Given the description of an element on the screen output the (x, y) to click on. 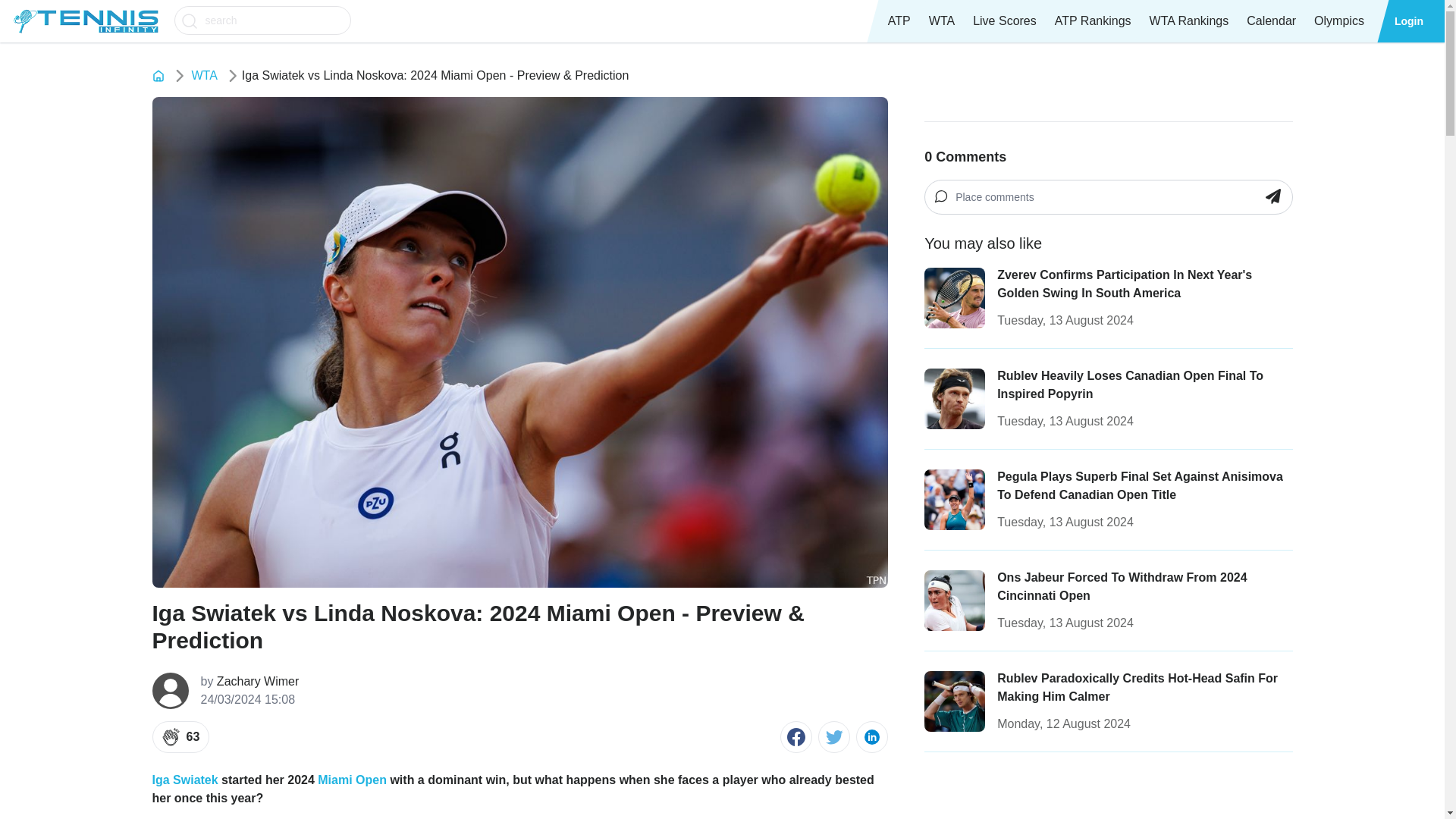
Calendar (1270, 21)
WTA Rankings (1189, 21)
Live Scores (1004, 21)
Olympics (1338, 21)
63 (180, 736)
WTA (203, 75)
ATP Rankings (1092, 21)
by Zachary Wimer (249, 681)
Miami Open (352, 779)
Iga Swiatek (183, 779)
